Given the description of an element on the screen output the (x, y) to click on. 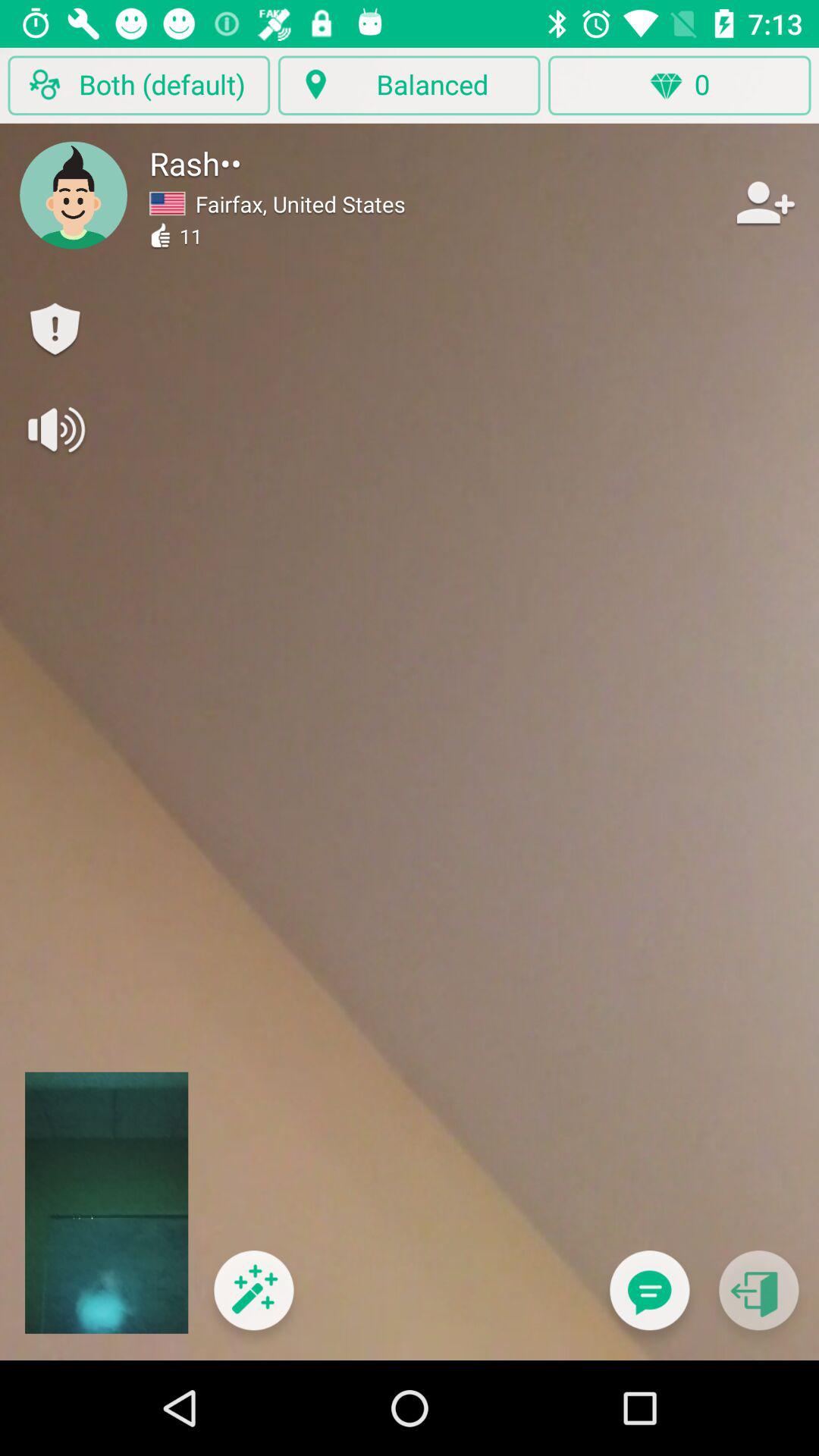
tap the item next to fairfax, united states item (763, 202)
